Given the description of an element on the screen output the (x, y) to click on. 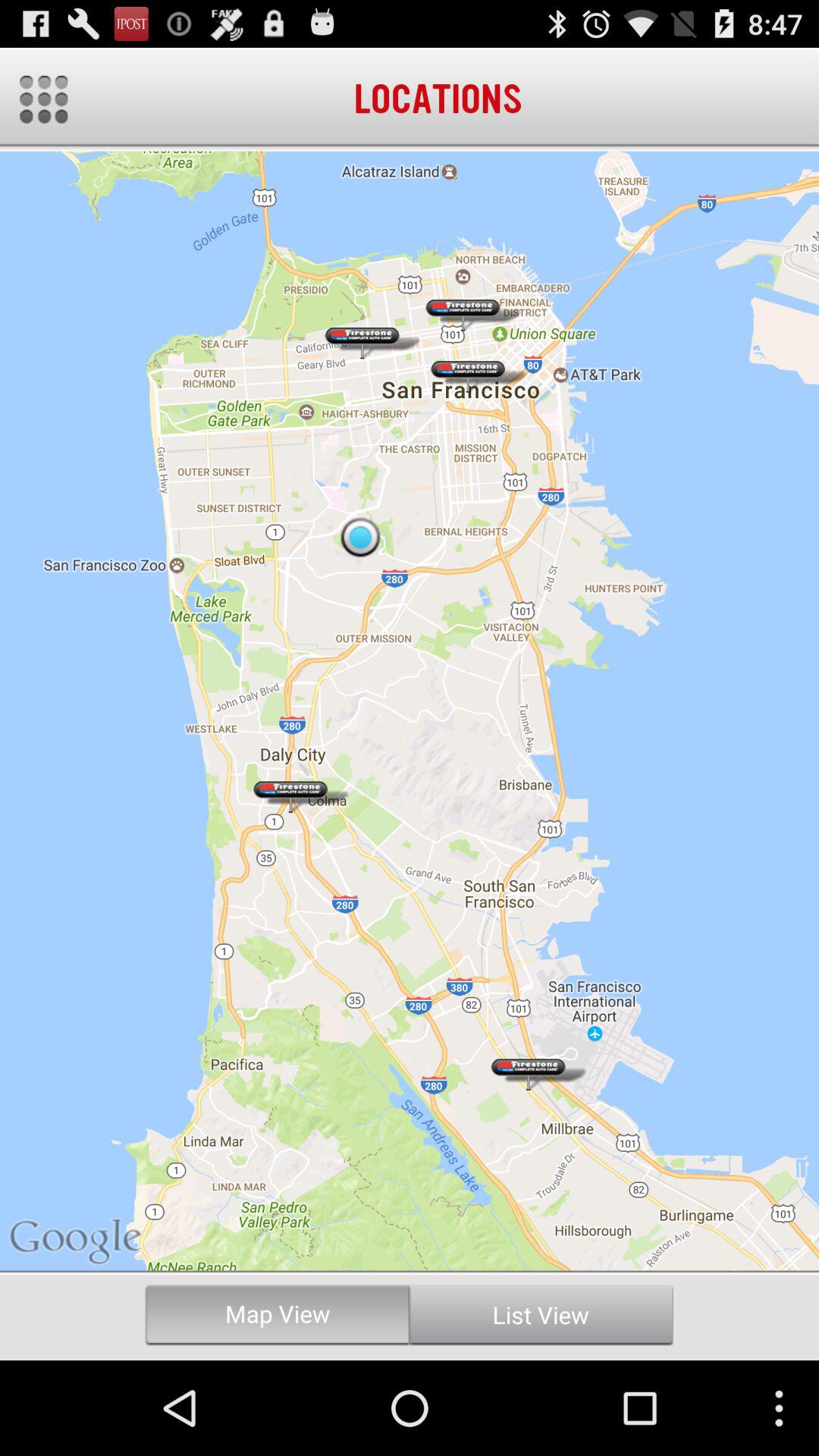
view options (43, 99)
